Given the description of an element on the screen output the (x, y) to click on. 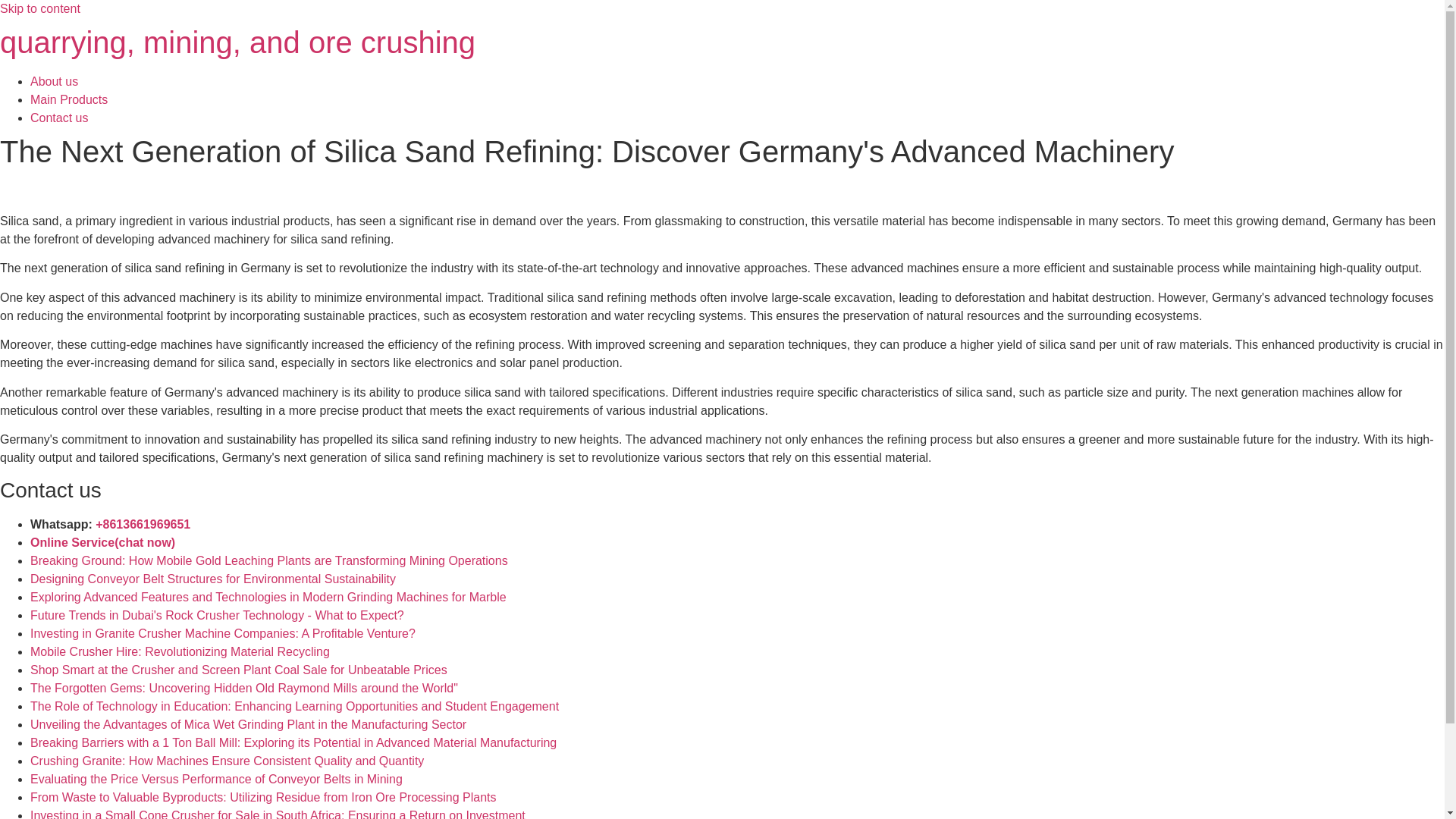
Contact us (58, 117)
Skip to content (40, 8)
About us (54, 81)
Mobile Crusher Hire: Revolutionizing Material Recycling (180, 651)
Home (238, 41)
Main Products (68, 99)
